Given the description of an element on the screen output the (x, y) to click on. 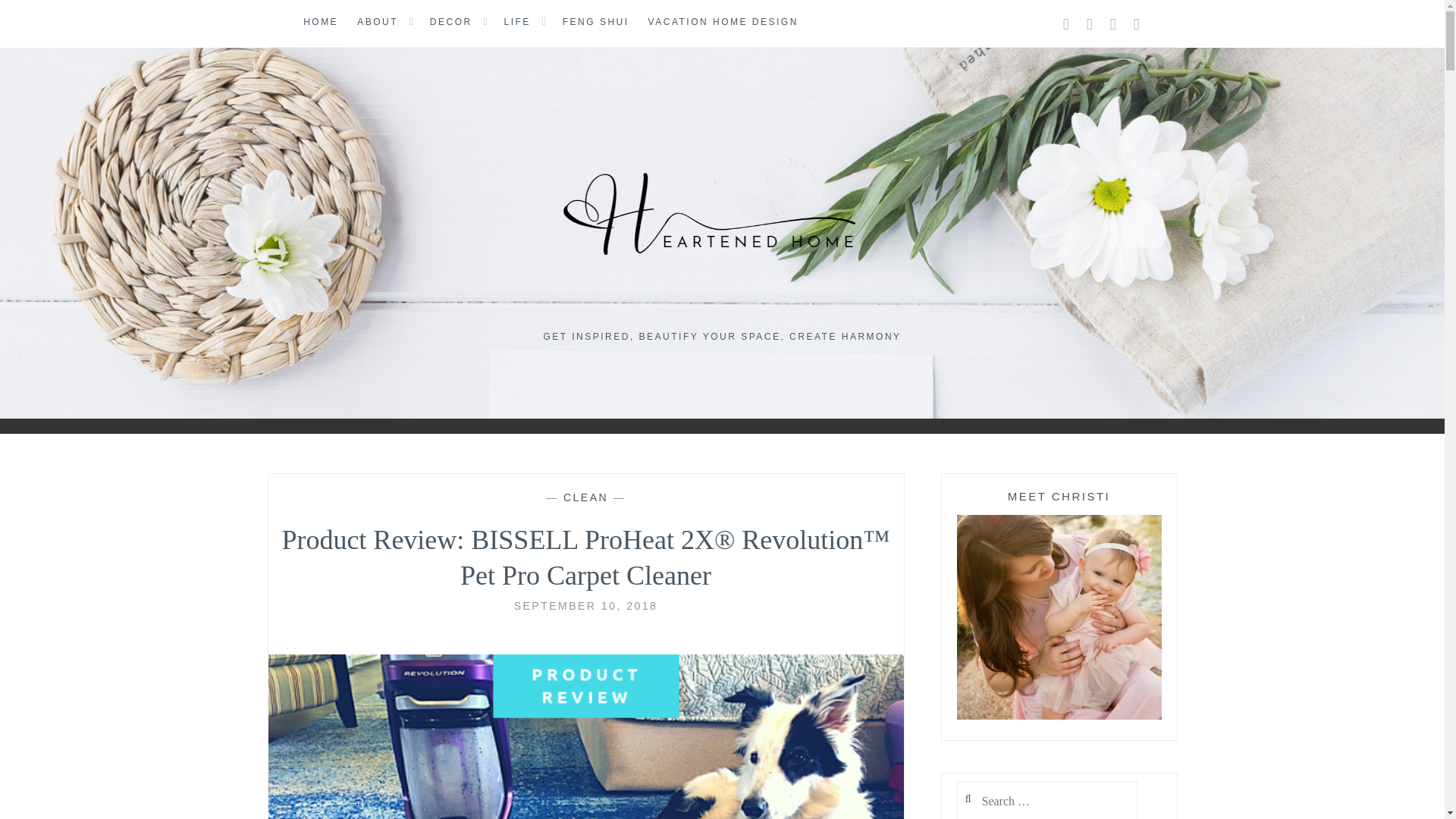
FENG SHUI (595, 22)
CLEAN (585, 497)
ABOUT (376, 22)
LIFE (517, 22)
VACATION HOME DESIGN (722, 22)
DECOR (450, 22)
HOME (319, 22)
